Given the description of an element on the screen output the (x, y) to click on. 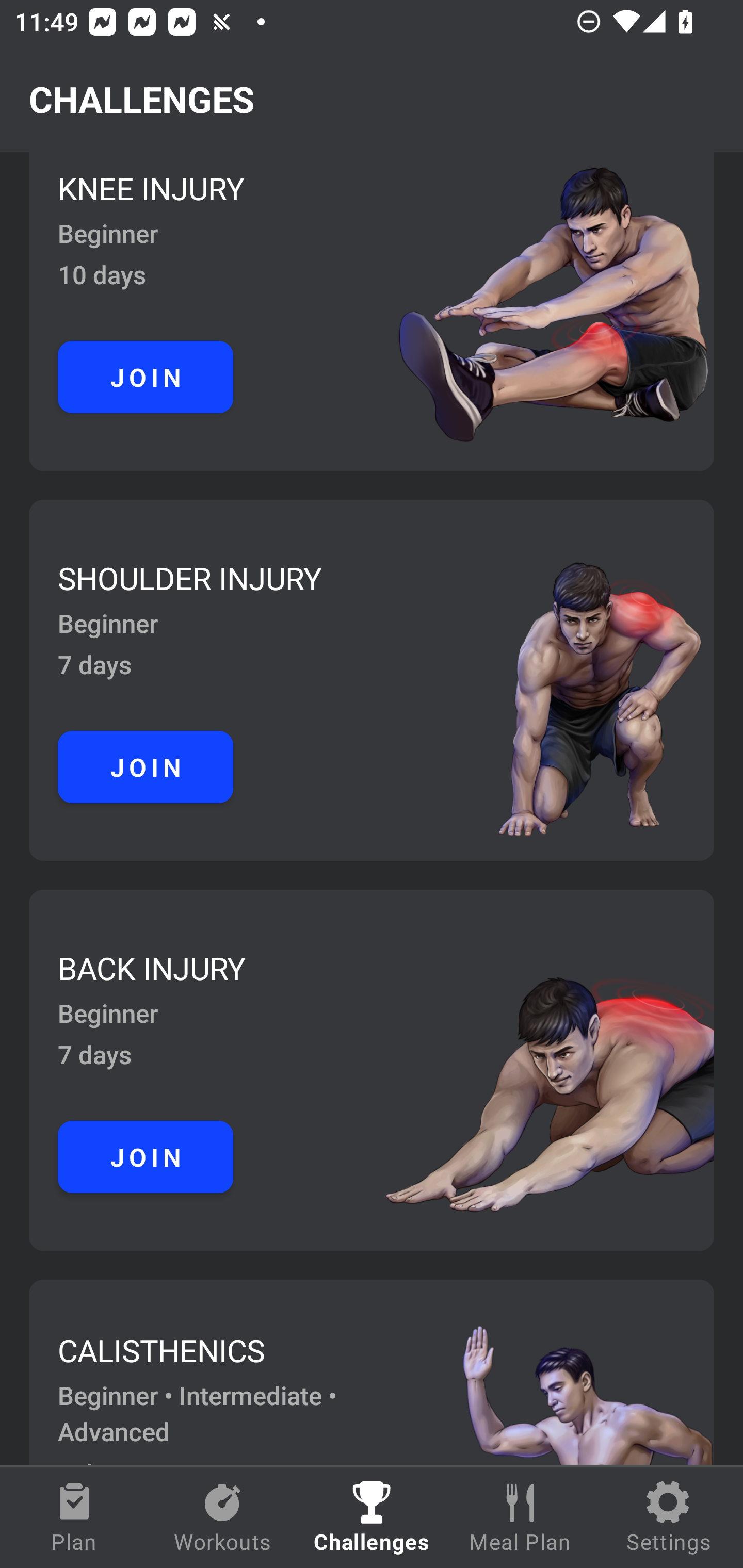
JOIN (145, 376)
JOIN (145, 767)
JOIN (145, 1156)
 Plan  (74, 1517)
 Workouts  (222, 1517)
 Meal Plan  (519, 1517)
 Settings  (668, 1517)
